Given the description of an element on the screen output the (x, y) to click on. 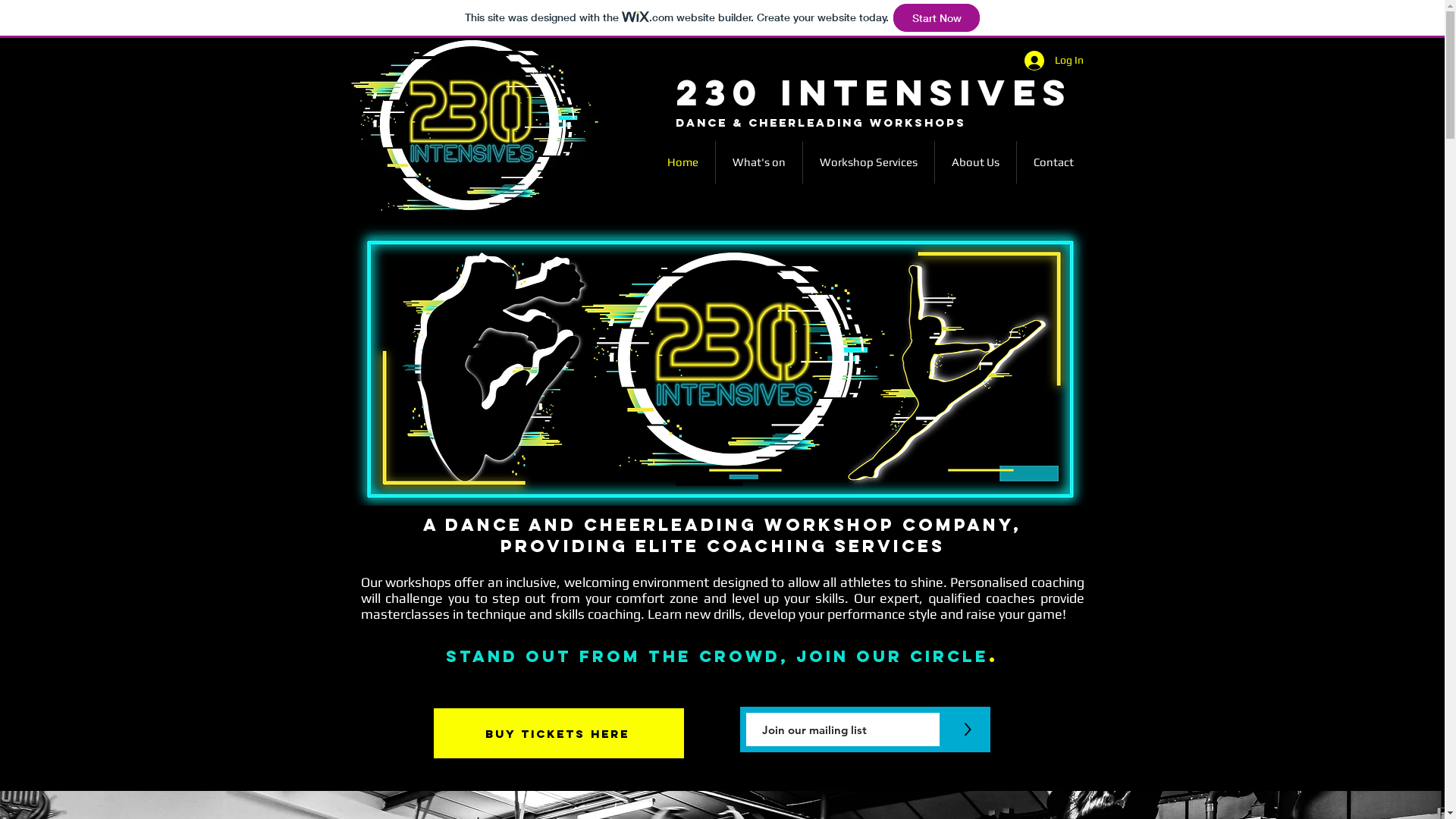
Workshop Services Element type: text (867, 162)
About Us Element type: text (974, 162)
Contact Element type: text (1052, 162)
What's on Element type: text (758, 162)
buy tickets here Element type: text (558, 733)
Log In Element type: text (1053, 60)
230%20logo%20final_edited.jpg Element type: hover (475, 124)
Home Element type: text (682, 162)
> Element type: text (967, 729)
